Given the description of an element on the screen output the (x, y) to click on. 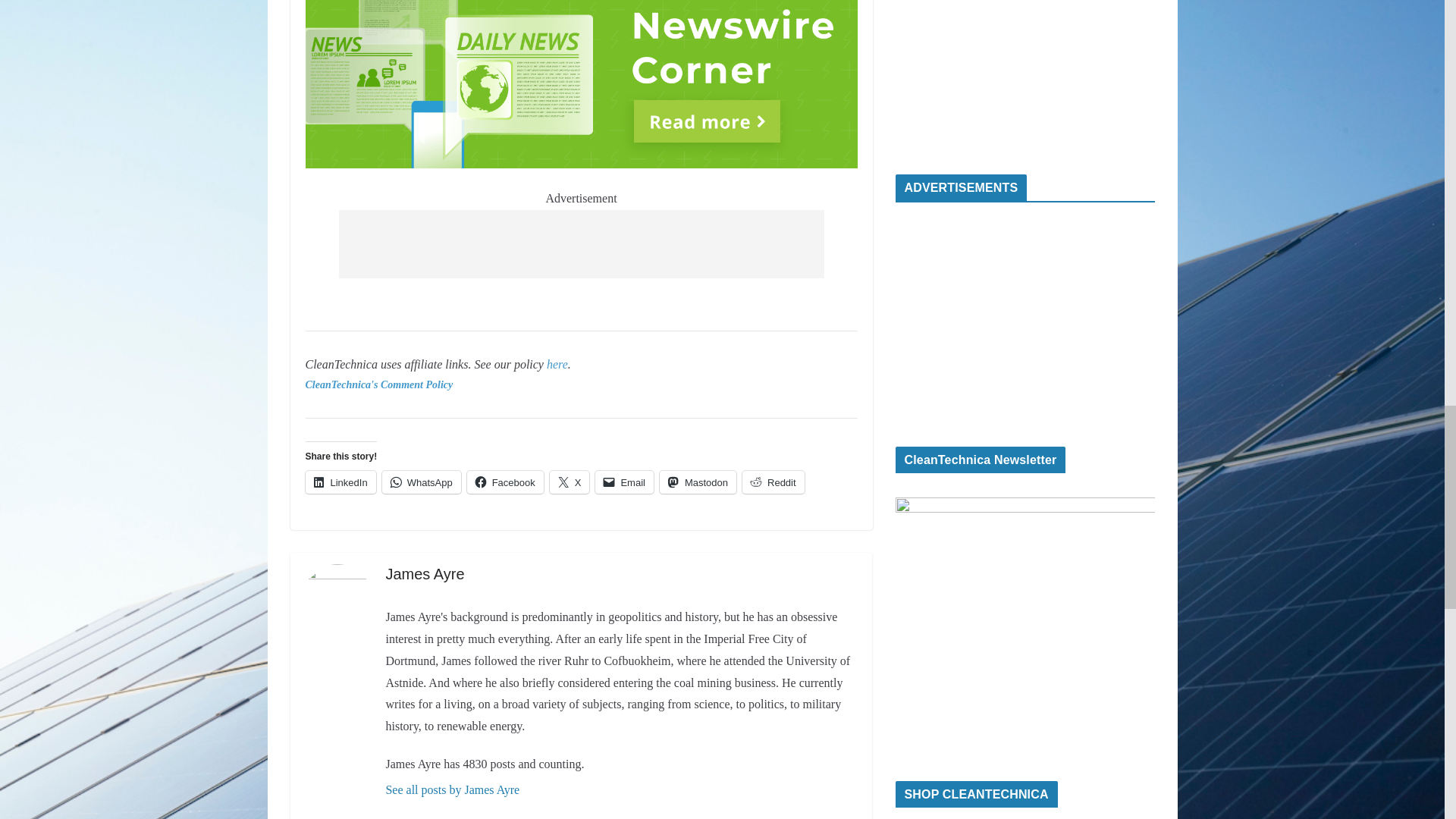
Click to share on X (569, 481)
Click to share on Mastodon (697, 481)
Click to share on WhatsApp (421, 481)
Click to share on Facebook (505, 481)
Click to email a link to a friend (624, 481)
Click to share on Reddit (773, 481)
Click to share on LinkedIn (339, 481)
